Given the description of an element on the screen output the (x, y) to click on. 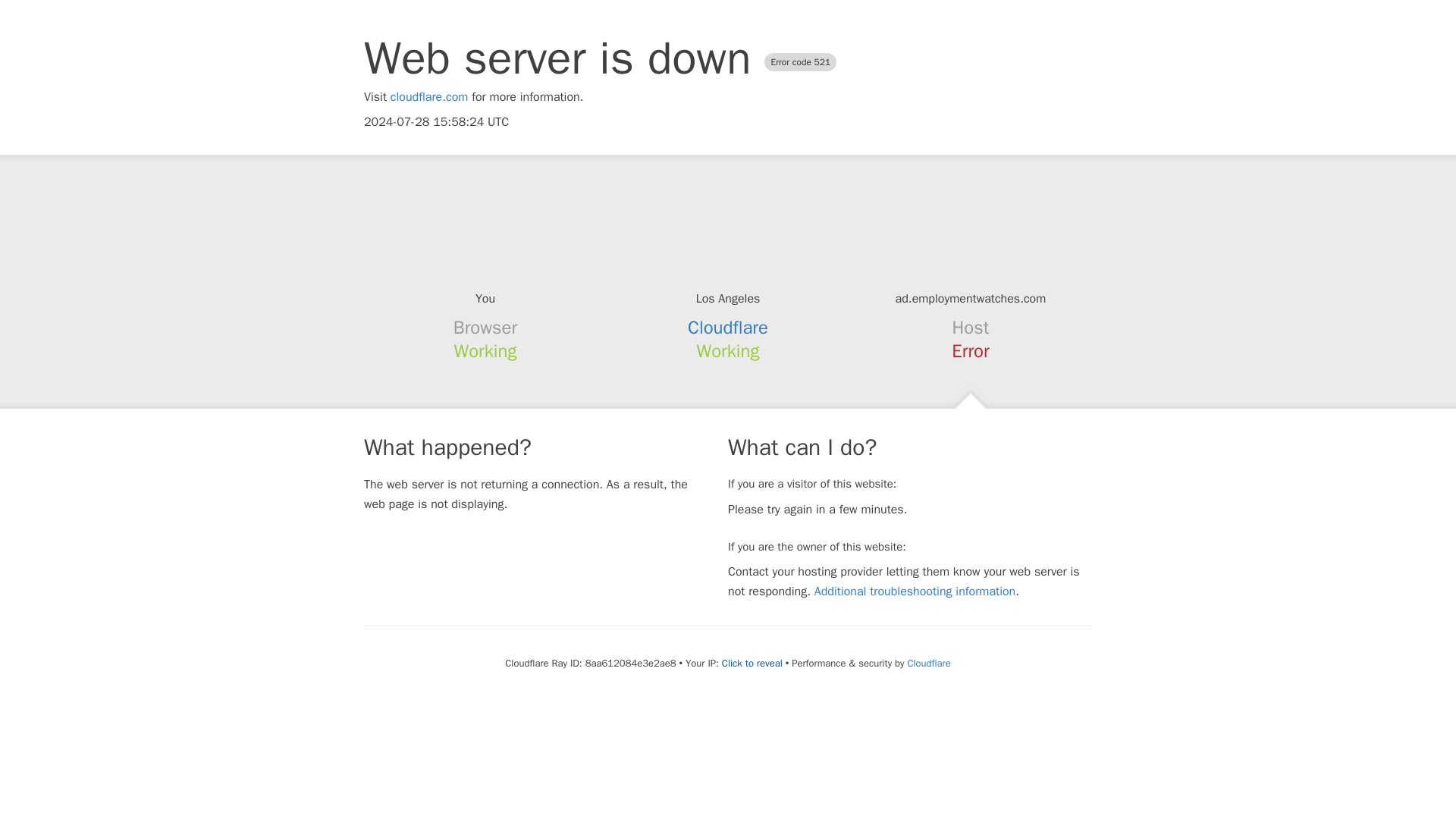
cloudflare.com (429, 96)
Cloudflare (727, 327)
Click to reveal (752, 663)
Cloudflare (928, 662)
Additional troubleshooting information (913, 590)
